Given the description of an element on the screen output the (x, y) to click on. 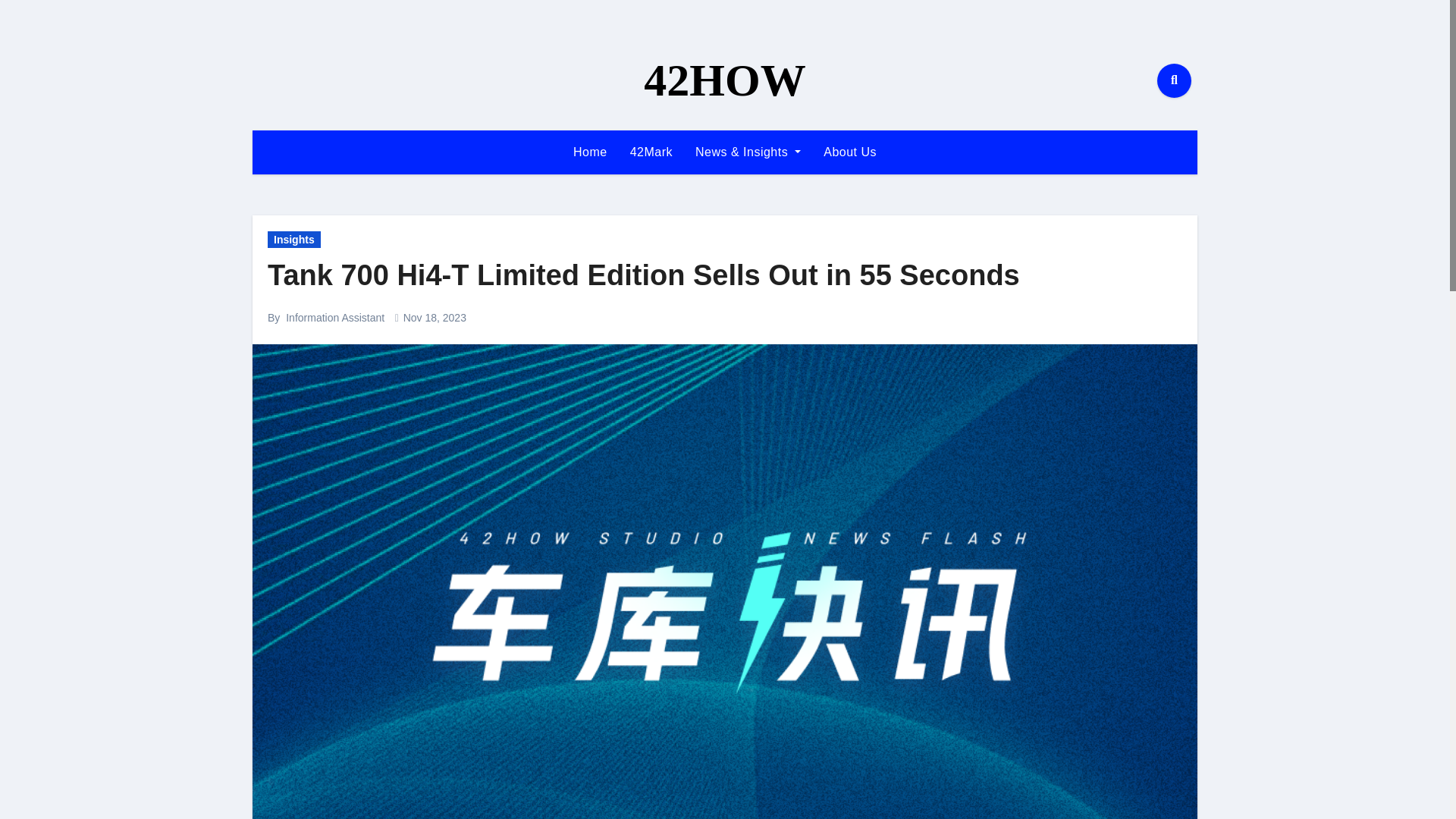
Information Assistant (334, 317)
42Mark (651, 152)
About Us (850, 152)
About Us (850, 152)
42HOW (724, 80)
Home (590, 152)
Home (590, 152)
Tank 700 Hi4-T Limited Edition Sells Out in 55 Seconds (643, 275)
Insights (293, 239)
